Given the description of an element on the screen output the (x, y) to click on. 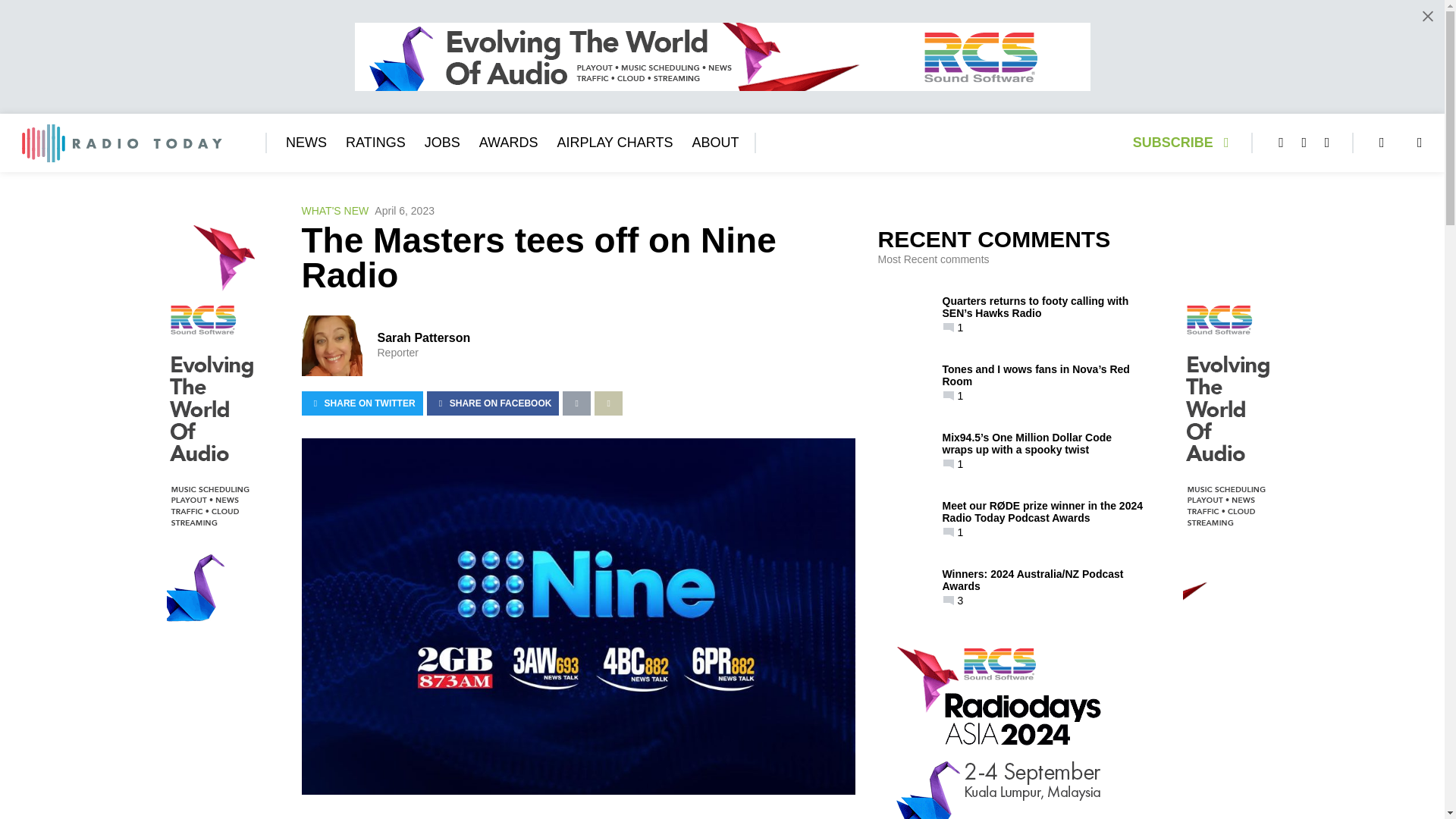
AWARDS (508, 142)
SHARE ON TWITTER (362, 403)
ABOUT (714, 142)
AIRPLAY CHARTS (614, 142)
WHAT'S NEW (335, 211)
Sarah Patterson (423, 337)
JOBS (442, 142)
RATINGS (376, 142)
SUBSCRIBE (1184, 142)
Close (1427, 16)
